Given the description of an element on the screen output the (x, y) to click on. 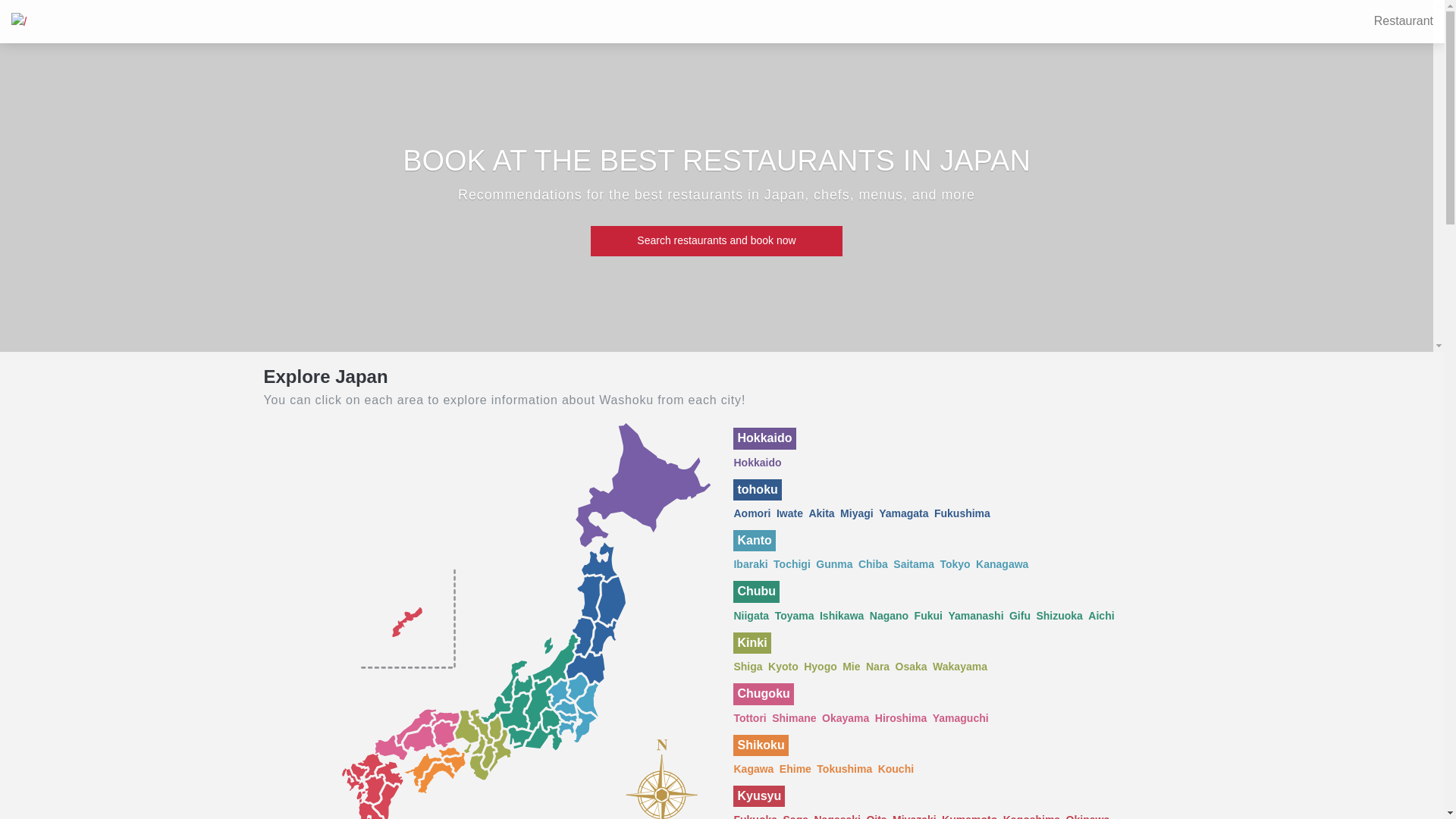
Chiba Element type: text (873, 564)
Nara Element type: text (877, 666)
Akita Element type: text (821, 513)
Ishikawa Element type: text (841, 616)
Yamanashi Element type: text (975, 616)
Niigata Element type: text (750, 616)
Tokyo Element type: text (954, 564)
Aomori Element type: text (751, 513)
Ehime Element type: text (795, 769)
Iwate Element type: text (789, 513)
Tochigi Element type: text (791, 564)
Fukui Element type: text (928, 616)
Miyagi Element type: text (856, 513)
Kanagawa Element type: text (1001, 564)
Gunma Element type: text (833, 564)
Yamagata Element type: text (903, 513)
Okayama Element type: text (845, 718)
Yamaguchi Element type: text (960, 718)
Shimane Element type: text (793, 718)
Tokushima Element type: text (844, 769)
Hokkaido Element type: text (757, 462)
Hiroshima Element type: text (900, 718)
Kagawa Element type: text (753, 769)
Kyoto Element type: text (783, 666)
Fukushima Element type: text (962, 513)
Nagano Element type: text (888, 616)
Kouchi Element type: text (895, 769)
Osaka Element type: text (911, 666)
Shiga Element type: text (747, 666)
Restaurant Element type: text (1392, 20)
Wakayama Element type: text (959, 666)
Toyama Element type: text (794, 616)
Tottori Element type: text (749, 718)
Shizuoka Element type: text (1058, 616)
Hyogo Element type: text (820, 666)
Mie Element type: text (850, 666)
Ibaraki Element type: text (750, 564)
Aichi Element type: text (1100, 616)
Search restaurants and book now Element type: text (716, 240)
Gifu Element type: text (1019, 616)
Saitama Element type: text (913, 564)
